Given the description of an element on the screen output the (x, y) to click on. 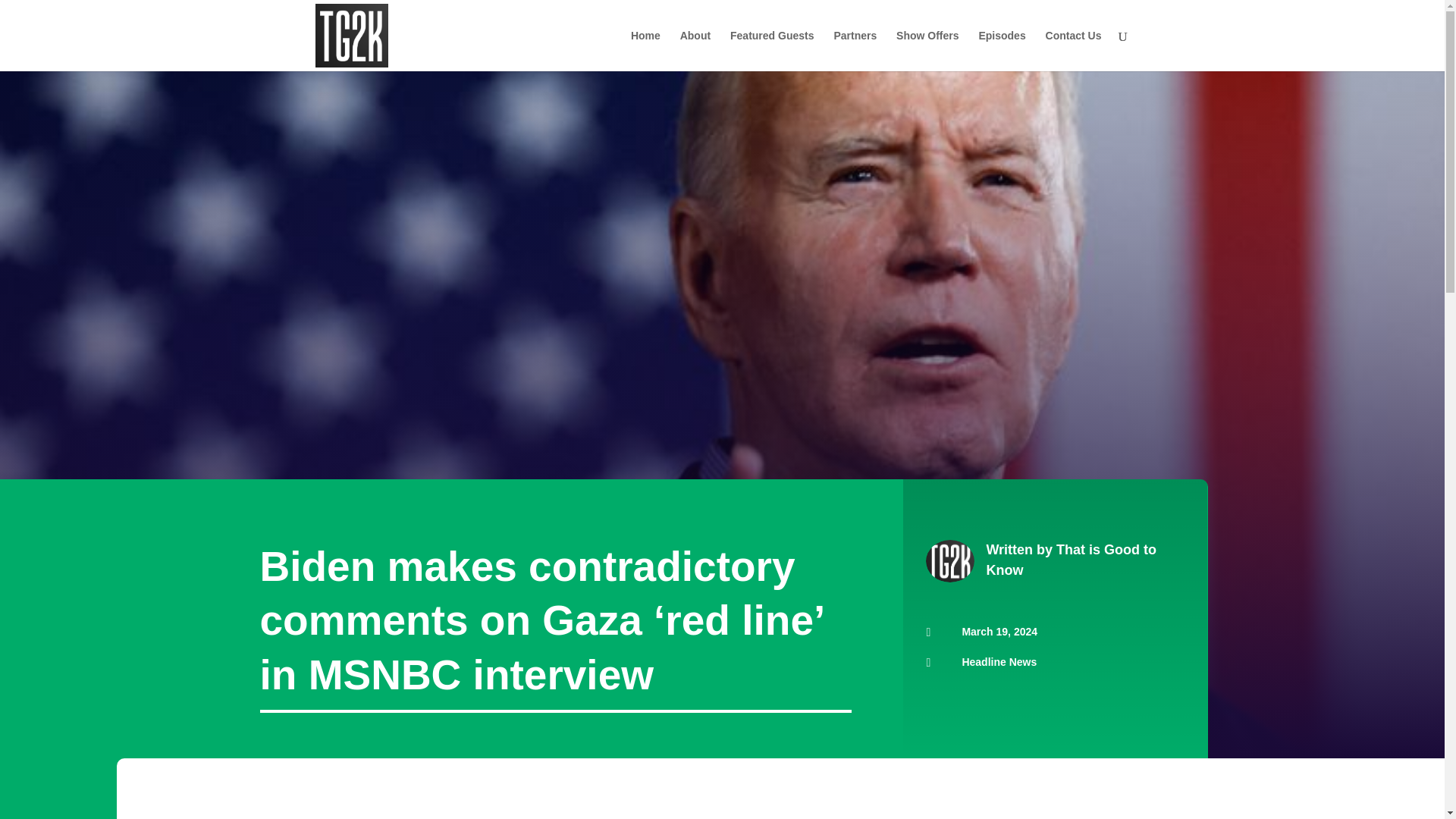
Episodes (1001, 50)
Headline News (998, 662)
Contact Us (1073, 50)
Partners (854, 50)
Show Offers (927, 50)
That is Good to Know (1070, 560)
Featured Guests (771, 50)
